Given the description of an element on the screen output the (x, y) to click on. 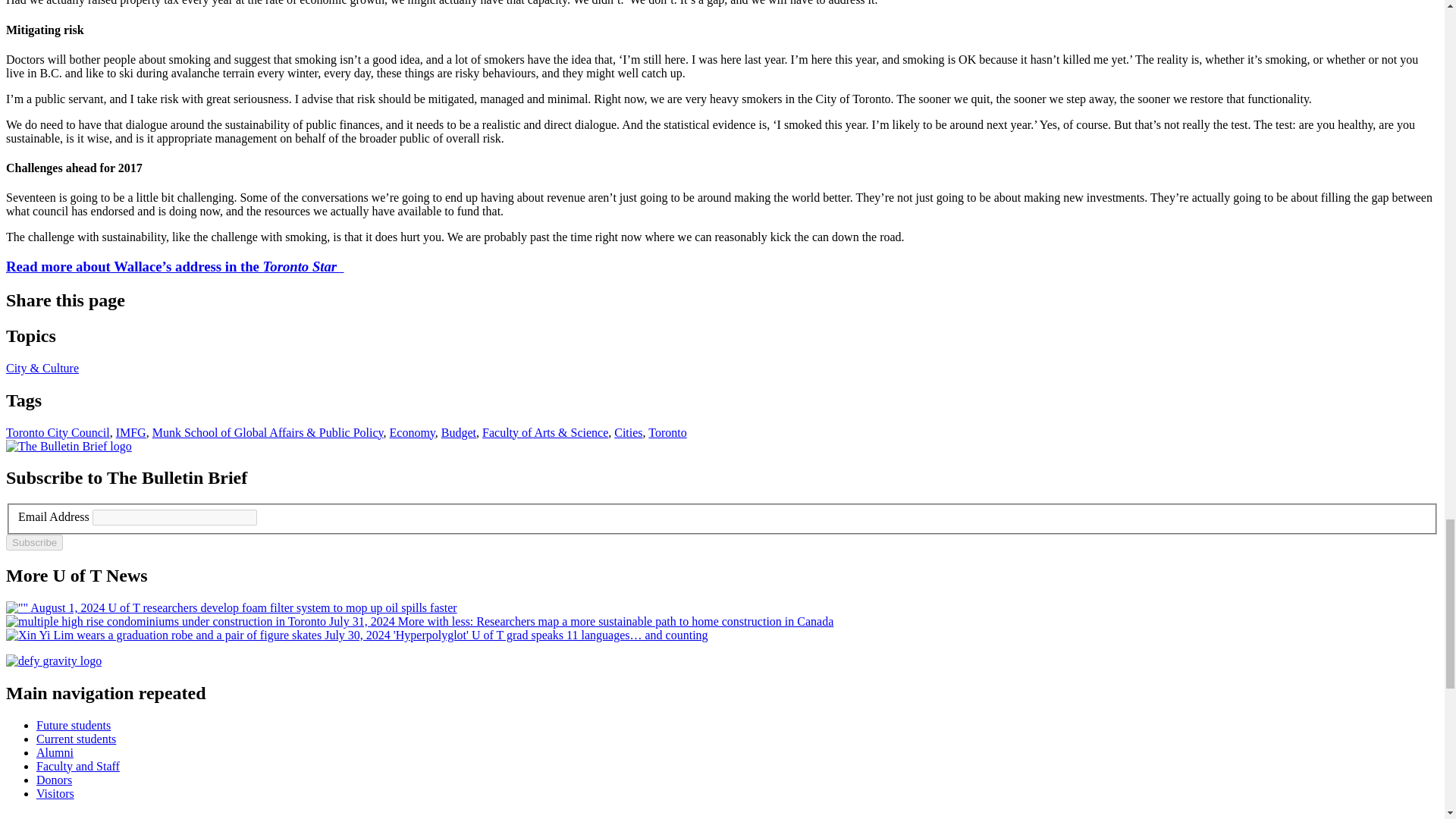
Defy gravity (53, 660)
